Given the description of an element on the screen output the (x, y) to click on. 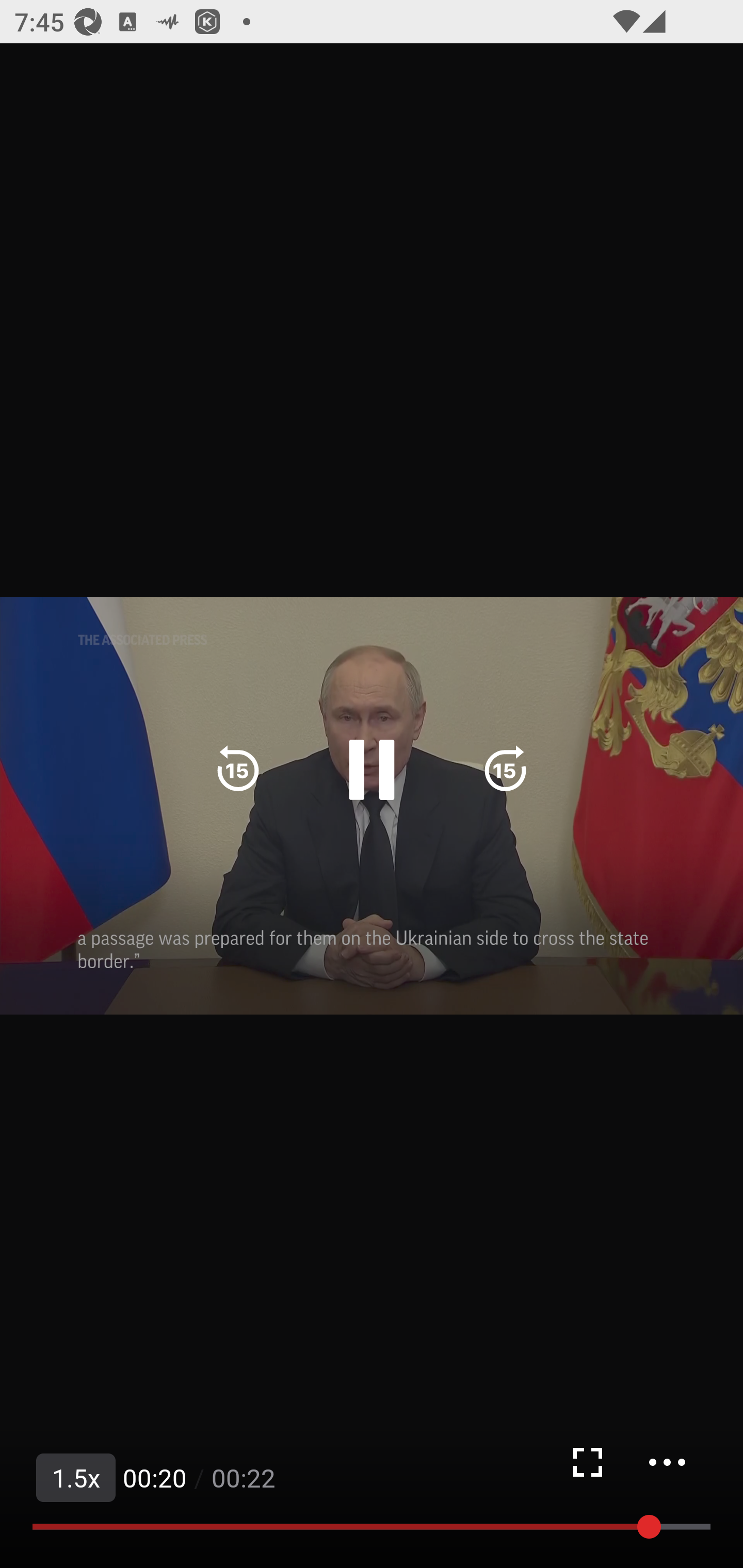
Rewind 15 seconds (238, 769)
Pause (371, 769)
fast forward 15 seconds (504, 769)
Fullscreen (587, 1462)
menu (666, 1462)
1.5x (75, 1477)
